Given the description of an element on the screen output the (x, y) to click on. 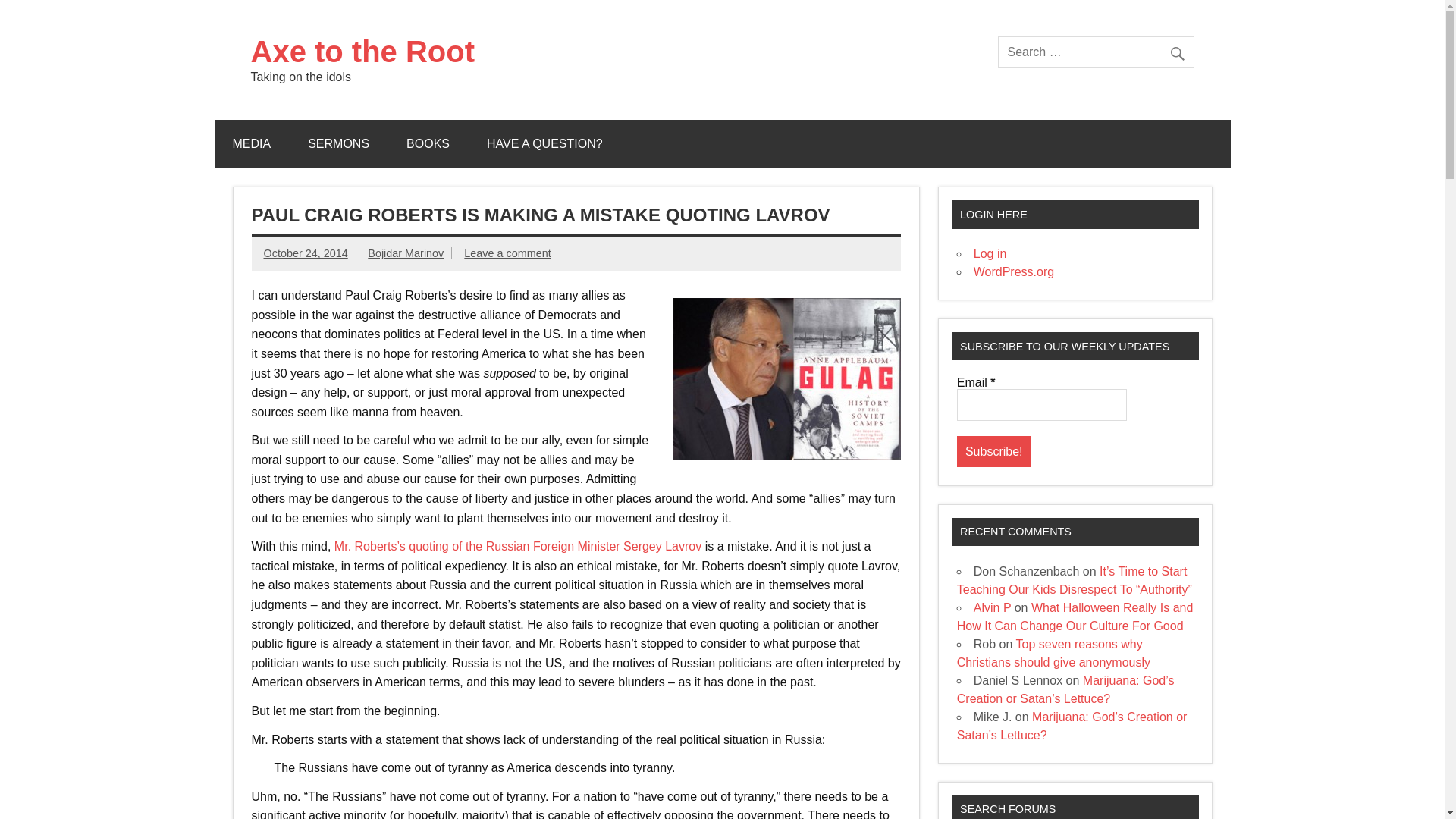
Top seven reasons why Christians should give anonymously (1053, 653)
BOOKS (427, 143)
Log in (990, 253)
MEDIA (251, 143)
SERMONS (338, 143)
WordPress.org (1014, 271)
View all posts by Bojidar Marinov (406, 253)
HAVE A QUESTION? (544, 143)
Bojidar Marinov (406, 253)
Email (1041, 404)
3:11 pm (305, 253)
October 24, 2014 (305, 253)
Subscribe! (993, 450)
